Given the description of an element on the screen output the (x, y) to click on. 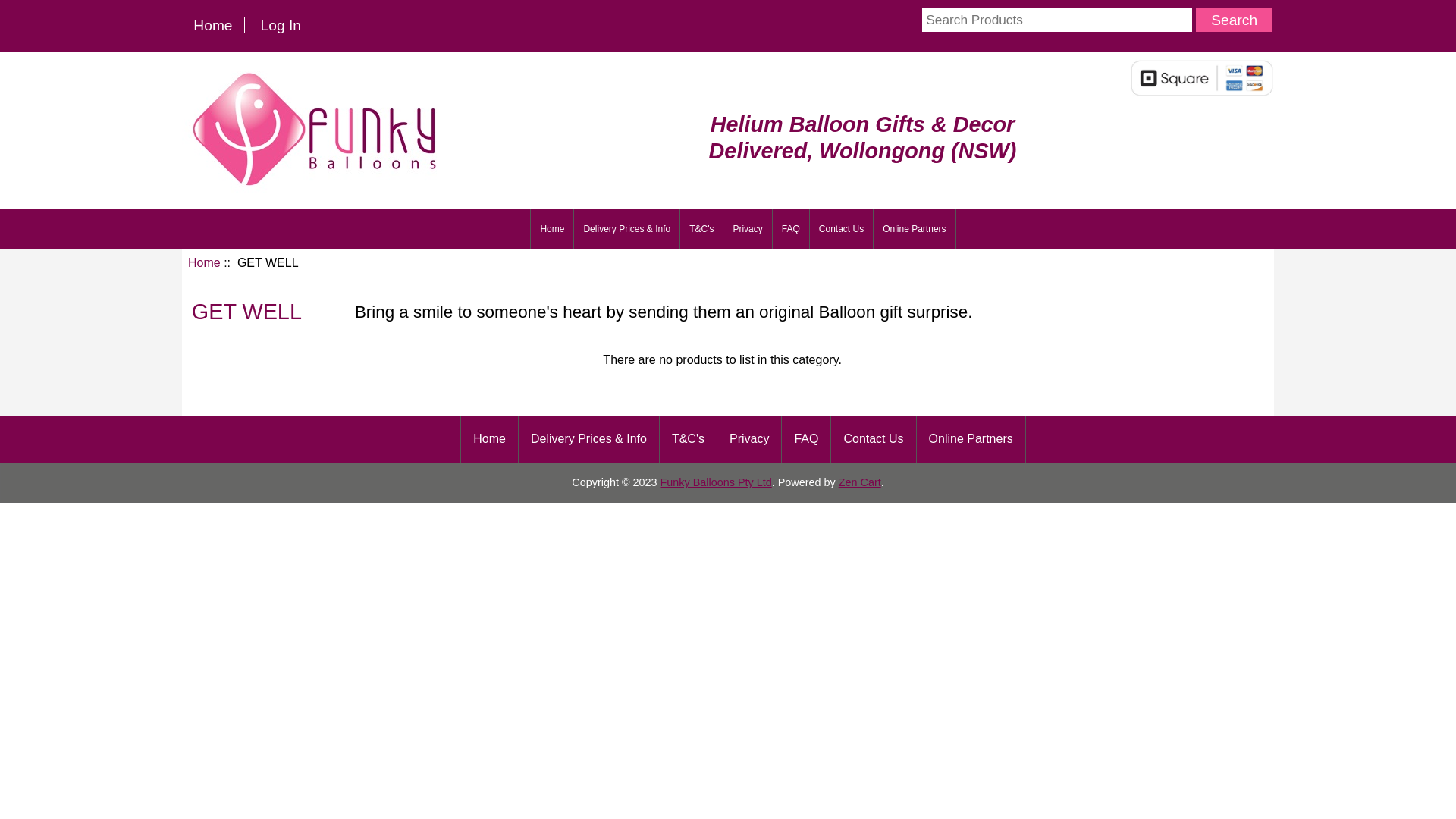
FAQ Element type: text (790, 228)
Delivery Prices & Info Element type: text (626, 228)
Contact Us Element type: text (873, 439)
Home Element type: text (551, 228)
Privacy Element type: text (747, 228)
Home Element type: text (489, 439)
Online Partners Element type: text (913, 228)
Home Element type: text (204, 262)
Home Element type: text (213, 25)
Search Element type: text (1233, 19)
Log In Element type: text (280, 25)
Contact Us Element type: text (840, 228)
Delivery Prices & Info Element type: text (588, 439)
Funky Balloons Pty Ltd Element type: text (715, 482)
FAQ Element type: text (805, 439)
T&C's Element type: text (701, 228)
Privacy Element type: text (749, 439)
T&C's Element type: text (687, 439)
 Funky Balloons, Wollongong (NSW) - Balloon Delivery Online  Element type: hover (316, 128)
Zen Cart Element type: text (859, 482)
Online Partners Element type: text (970, 439)
